Given the description of an element on the screen output the (x, y) to click on. 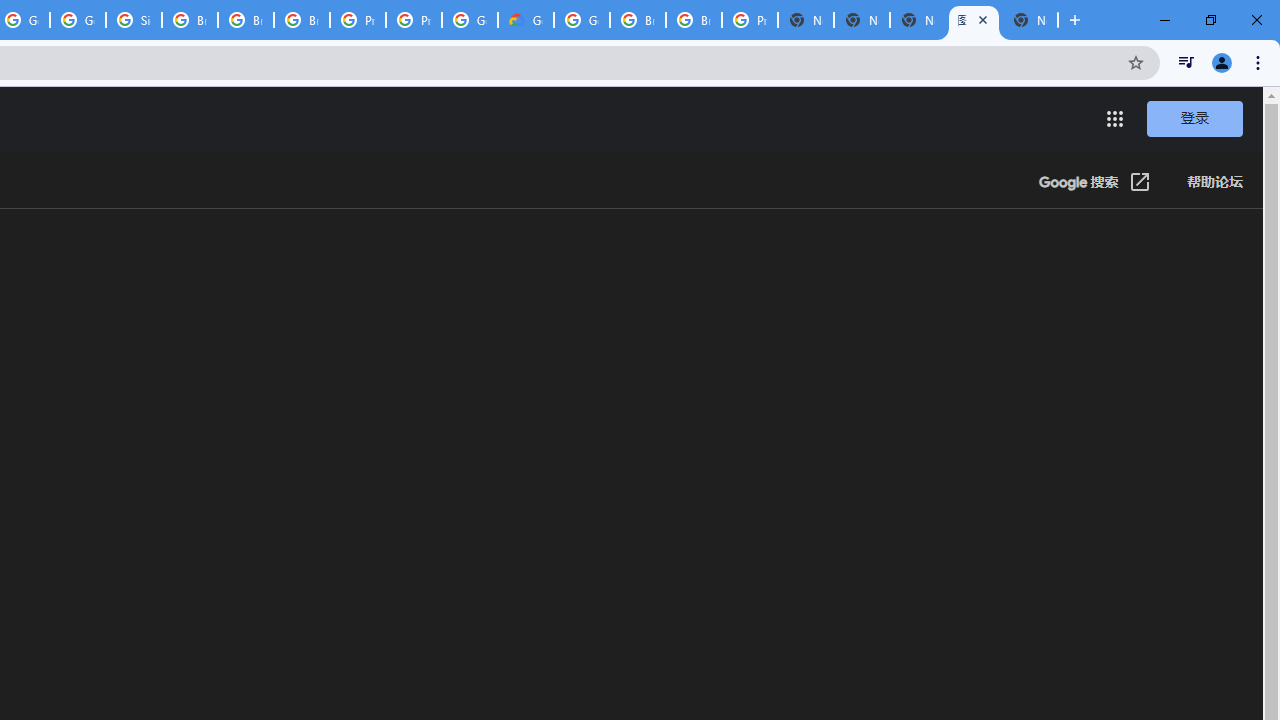
Google Cloud Platform (582, 20)
Browse Chrome as a guest - Computer - Google Chrome Help (301, 20)
Browse Chrome as a guest - Computer - Google Chrome Help (189, 20)
